Given the description of an element on the screen output the (x, y) to click on. 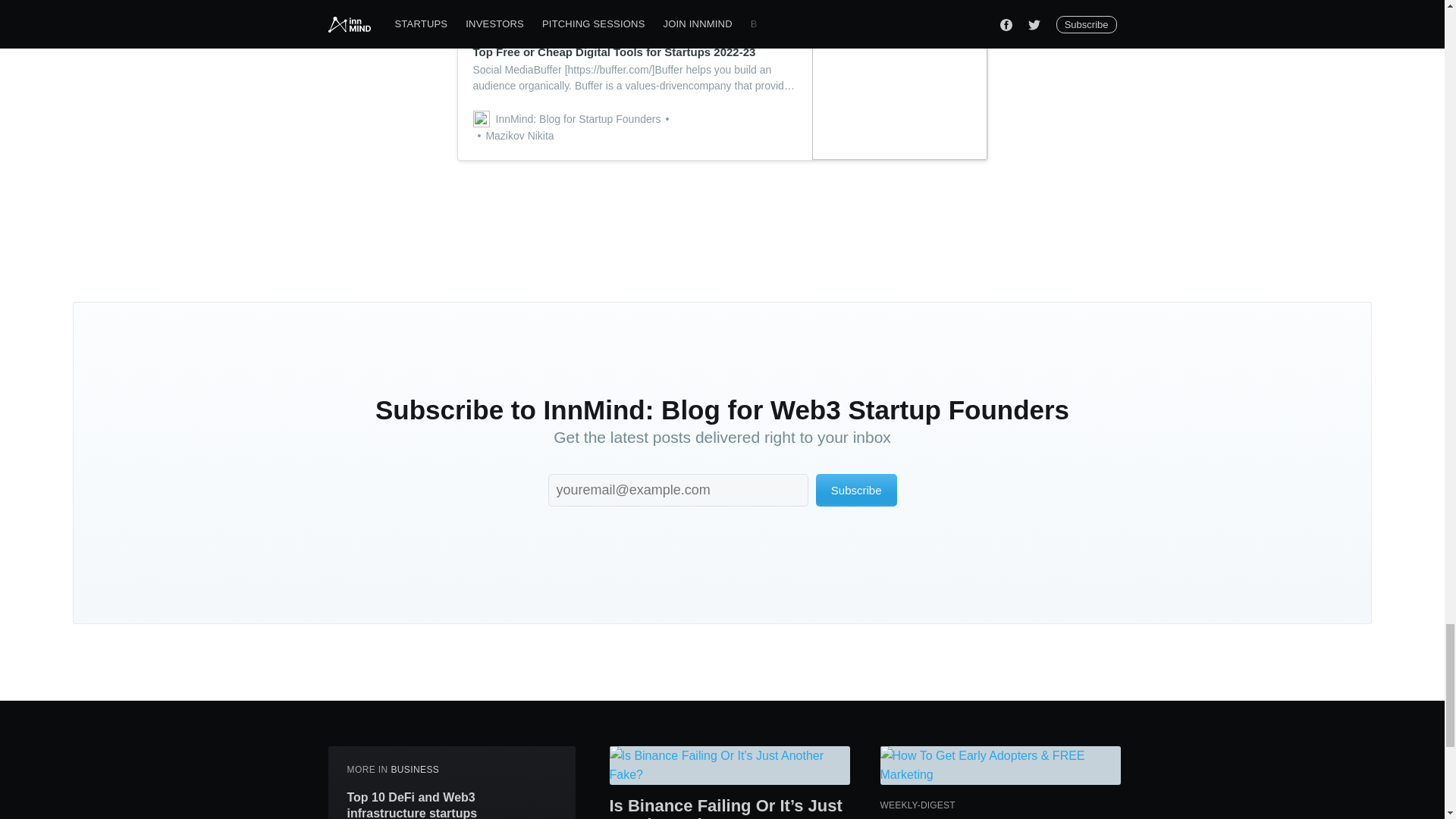
BUSINESS (414, 769)
Subscribe (855, 490)
